Given the description of an element on the screen output the (x, y) to click on. 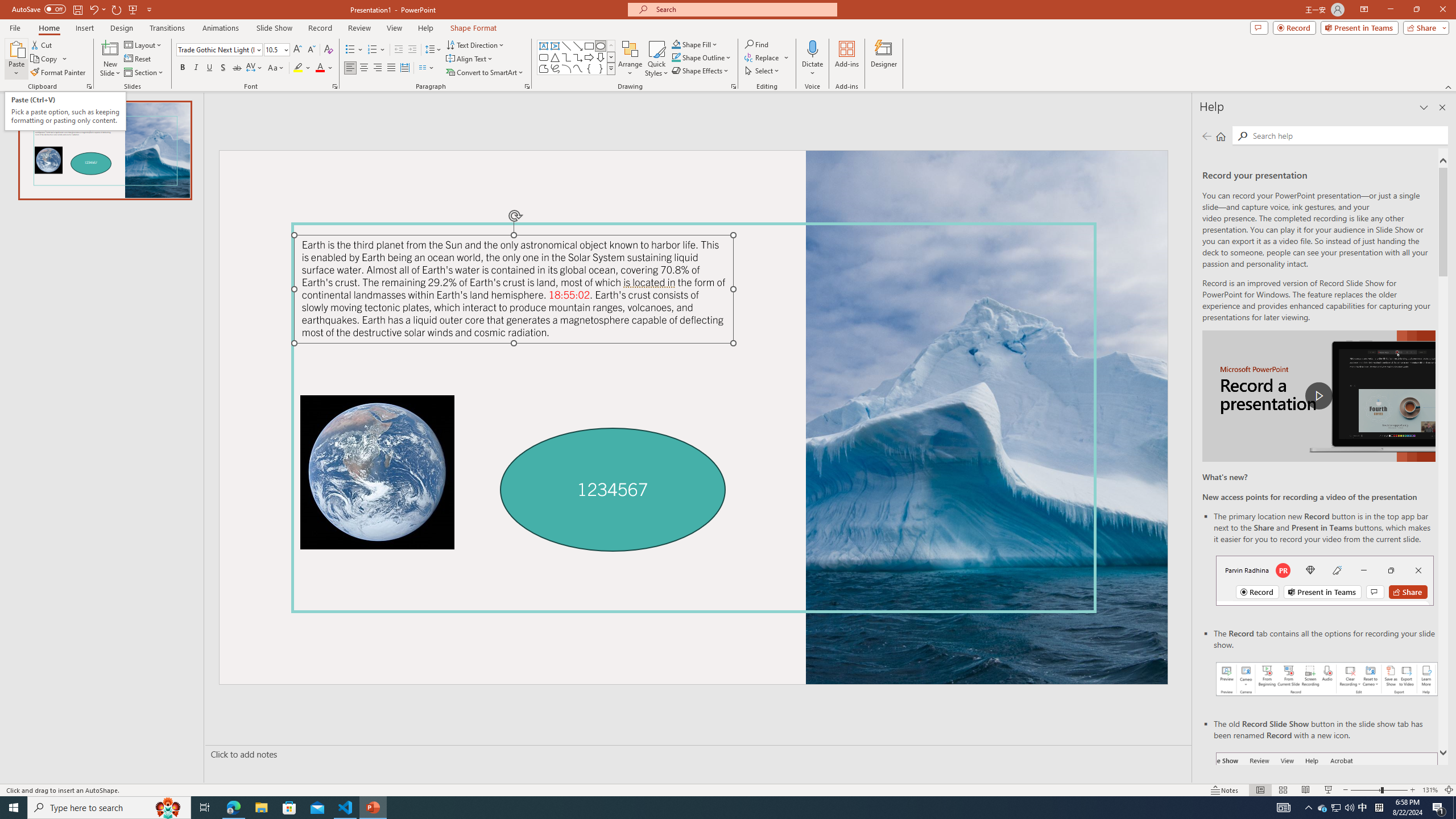
Shape Outline Teal, Accent 1 (675, 56)
